Given the description of an element on the screen output the (x, y) to click on. 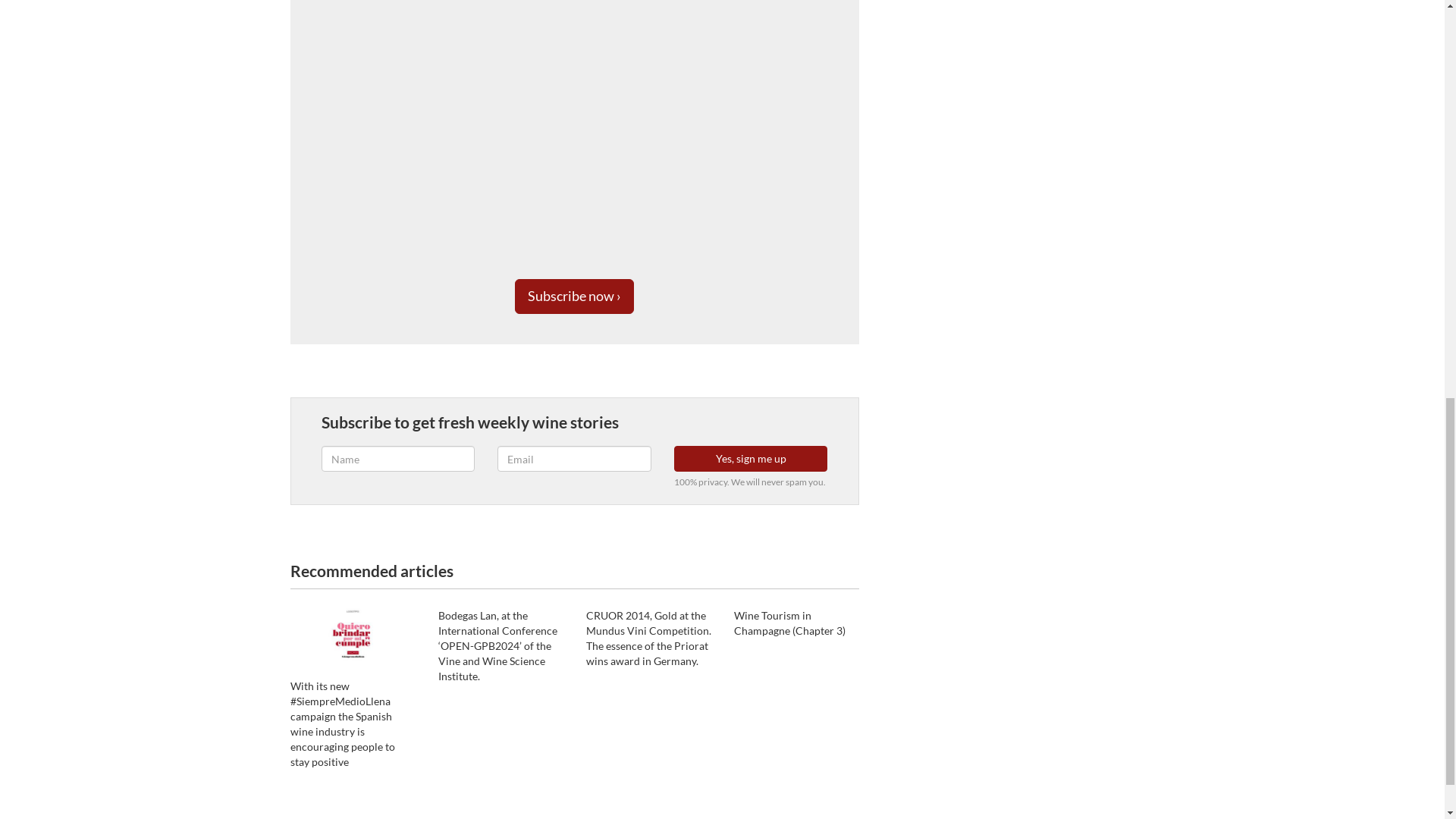
Yes, sign me up (751, 458)
